Given the description of an element on the screen output the (x, y) to click on. 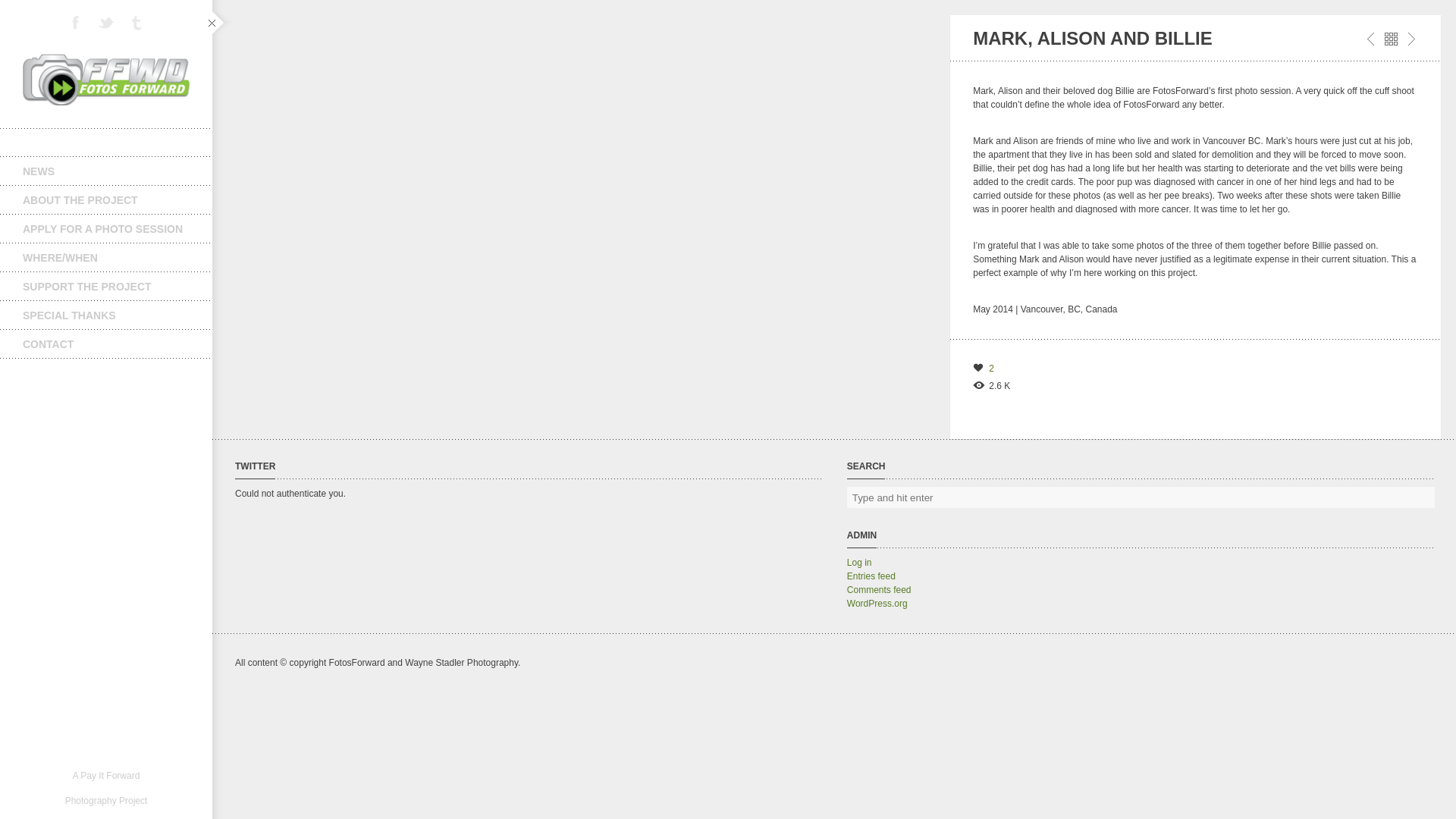
FotosForward on Tumblr (135, 22)
NEWS (106, 171)
SUPPORT THE PROJECT (106, 286)
Love this (983, 368)
Close (1390, 38)
ABOUT THE PROJECT (106, 199)
FotosForward on Facebook (75, 22)
HOME (106, 142)
CONTACT (106, 344)
SPECIAL THANKS (106, 315)
